Given the description of an element on the screen output the (x, y) to click on. 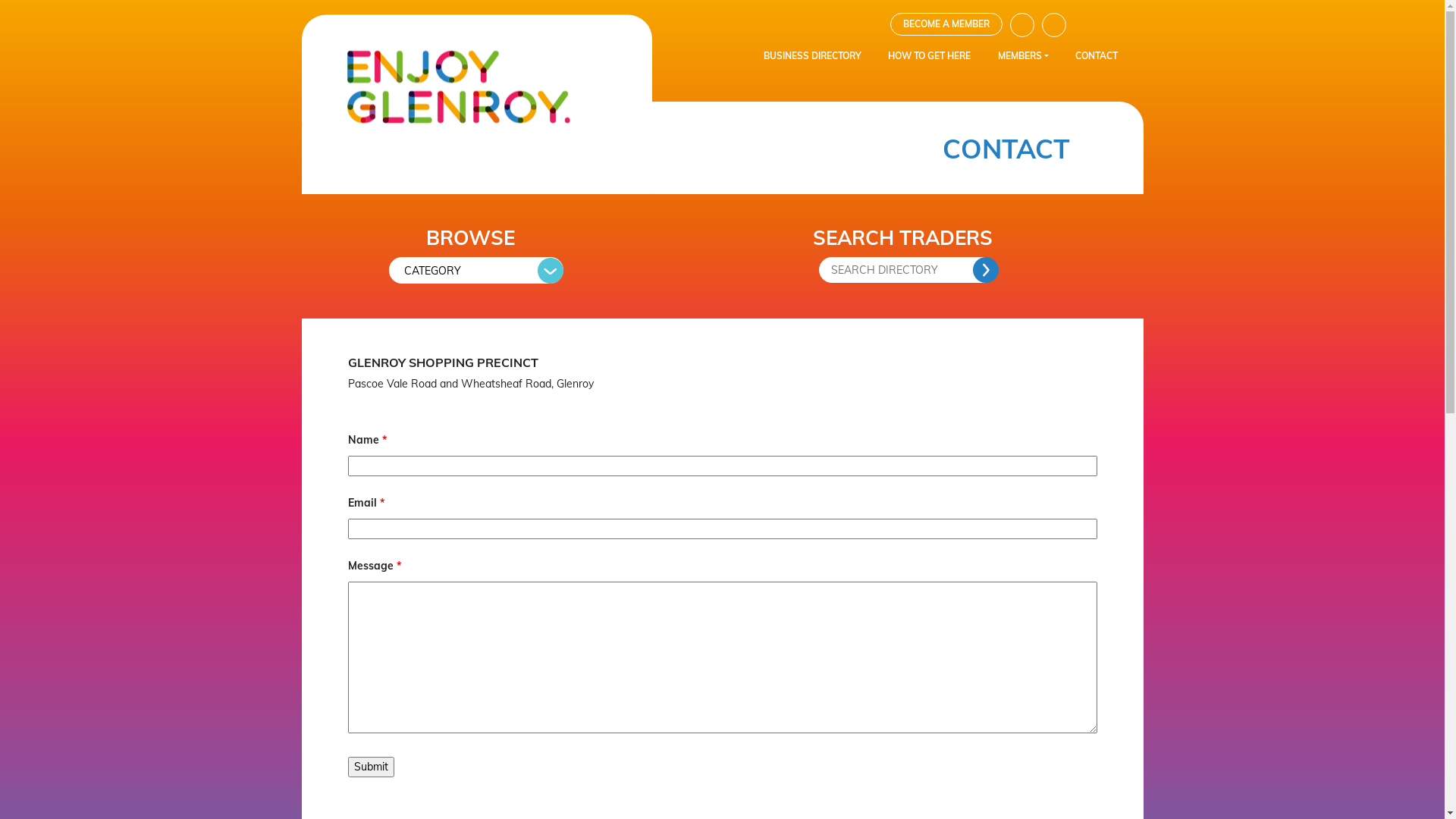
BUSINESS DIRECTORY Element type: text (812, 56)
BECOME A MEMBER Element type: text (945, 24)
HOW TO GET HERE Element type: text (929, 56)
MEMBERS Element type: text (1022, 56)
Submit Element type: text (370, 766)
CONTACT Element type: text (1095, 56)
